Given the description of an element on the screen output the (x, y) to click on. 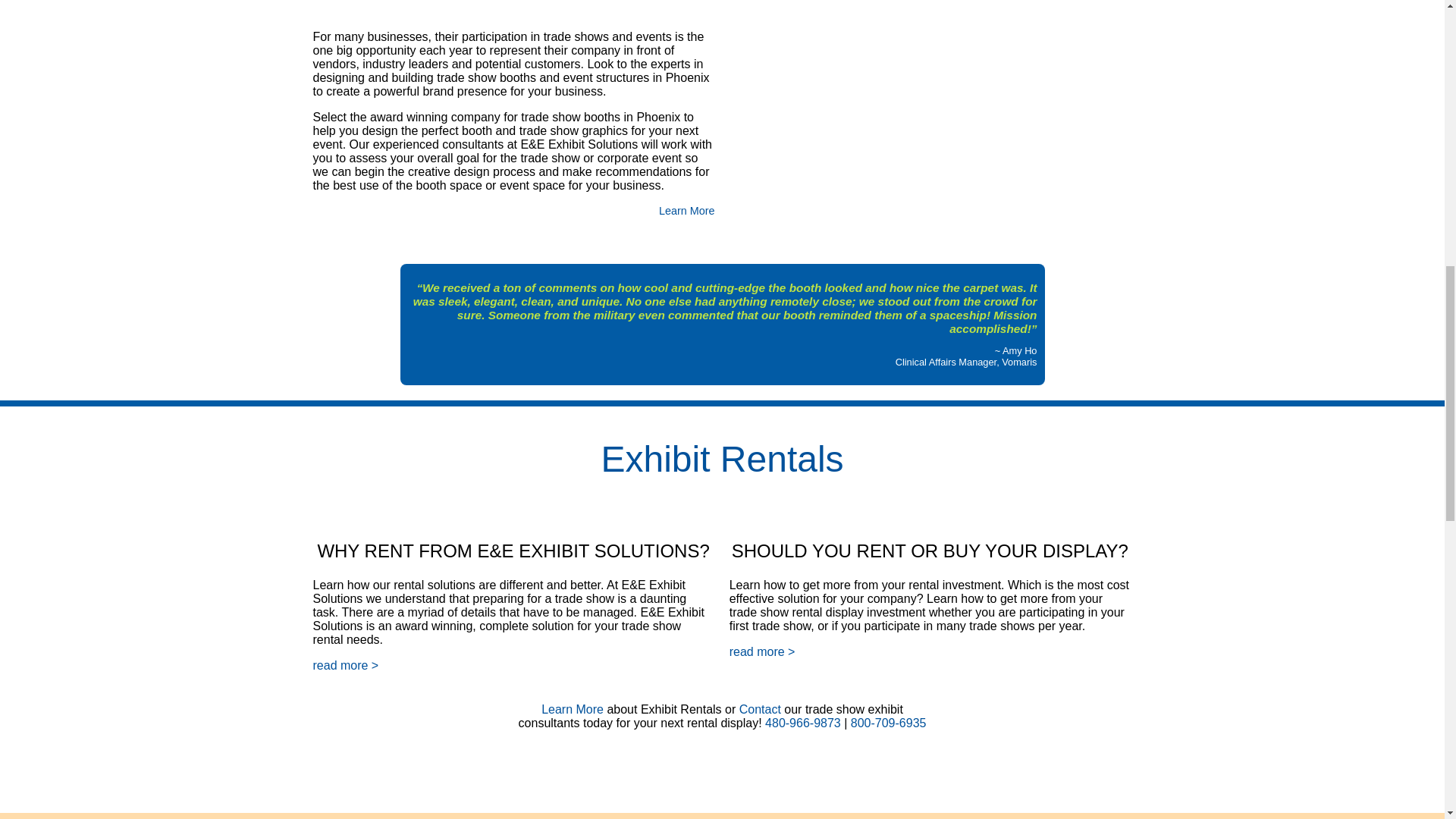
Learn More (572, 708)
480-966-9873 (803, 722)
Contact (759, 708)
Learn More (686, 210)
800-709-6935 (888, 722)
